Given the description of an element on the screen output the (x, y) to click on. 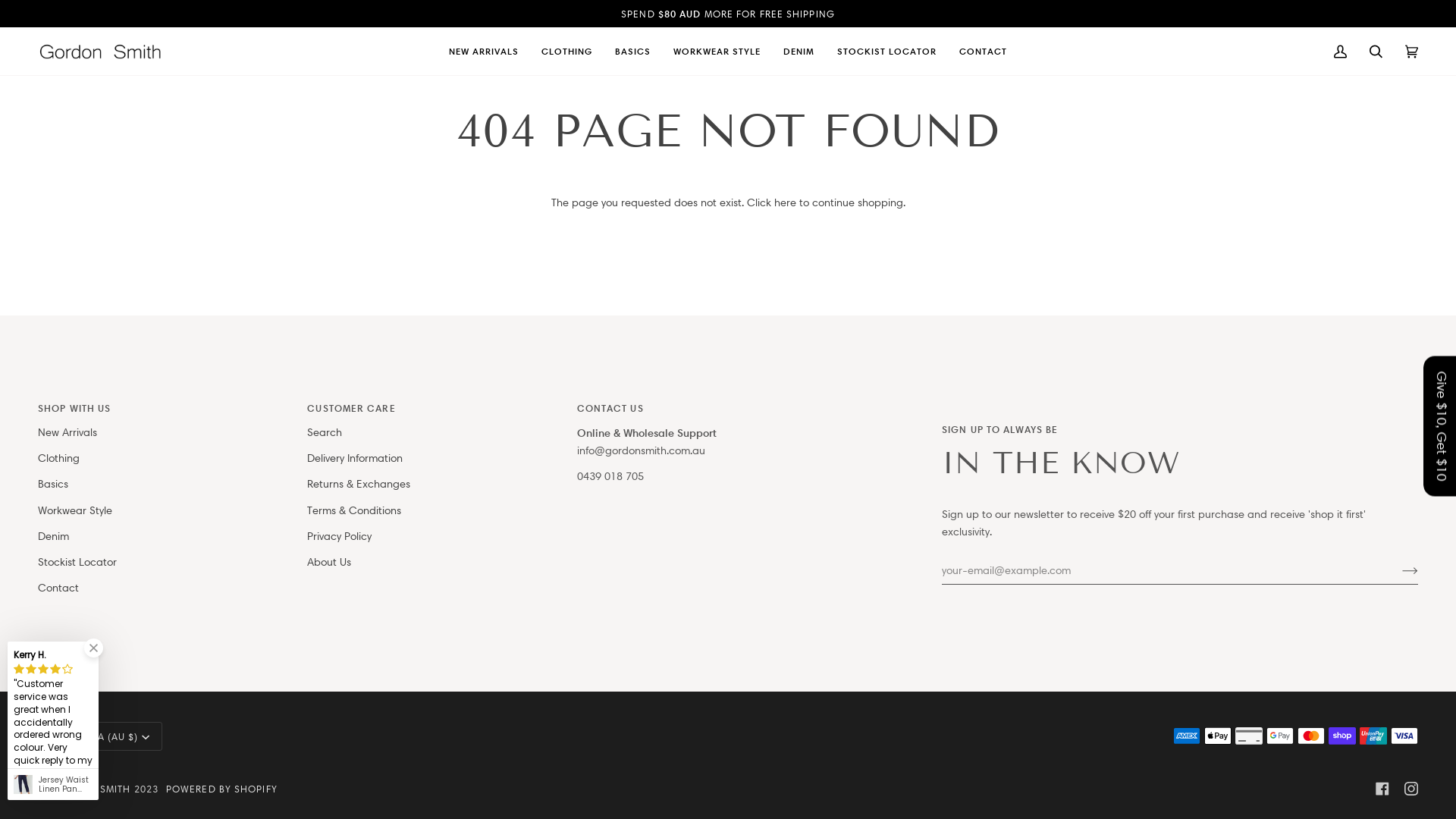
Contact Element type: text (57, 587)
BASICS Element type: text (632, 51)
Basics Element type: text (52, 483)
POWERED BY SHOPIFY Element type: text (221, 788)
Stockist Locator Element type: text (76, 561)
DENIM Element type: text (798, 51)
GORDON SMITH Element type: text (90, 788)
WORKWEAR STYLE Element type: text (716, 51)
Clothing Element type: text (58, 457)
Terms & Conditions Element type: text (354, 510)
FACEBOOK Element type: text (1382, 788)
Workwear Style Element type: text (74, 510)
STOCKIST LOCATOR Element type: text (886, 51)
SEARCH Element type: text (1375, 51)
INSTAGRAM Element type: text (1411, 788)
here Element type: text (784, 202)
CONTACT Element type: text (982, 51)
CLOTHING Element type: text (566, 51)
Denim Element type: text (53, 535)
NEW ARRIVALS Element type: text (483, 51)
CART
(0) Element type: text (1411, 51)
Search Element type: text (324, 432)
MY ACCOUNT Element type: text (1340, 51)
Privacy Policy Element type: text (339, 535)
About Us Element type: text (329, 561)
New Arrivals Element type: text (67, 432)
Delivery Information Element type: text (354, 457)
Returns & Exchanges Element type: text (358, 483)
AUSTRALIA (AU $) Element type: text (99, 735)
